Given the description of an element on the screen output the (x, y) to click on. 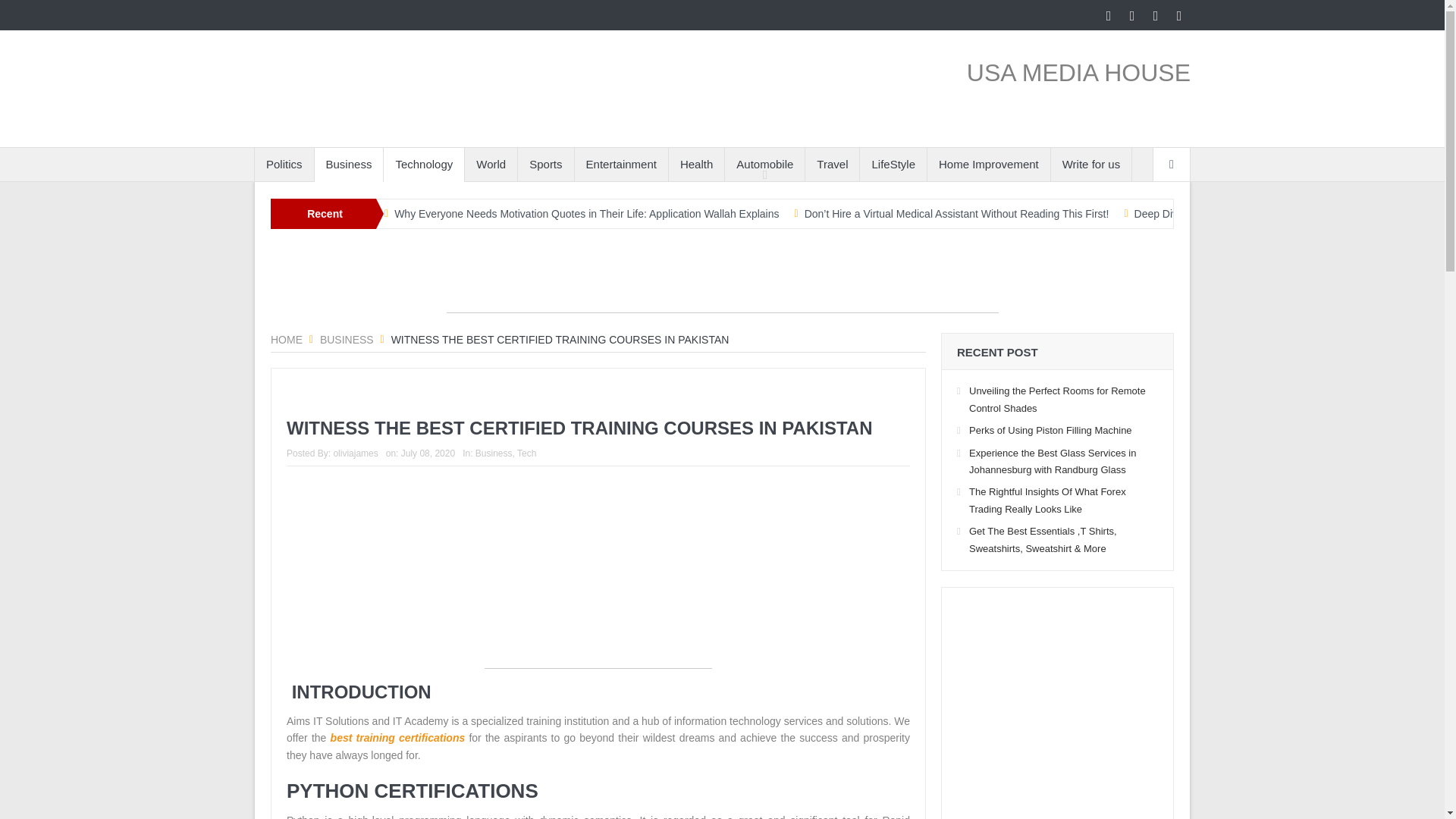
Home Improvement (988, 164)
Business (347, 339)
Politics (284, 164)
Write for us (1091, 164)
View all posts in Tech (525, 452)
Health (695, 164)
World (490, 164)
Technology (424, 164)
Travel (832, 164)
